Given the description of an element on the screen output the (x, y) to click on. 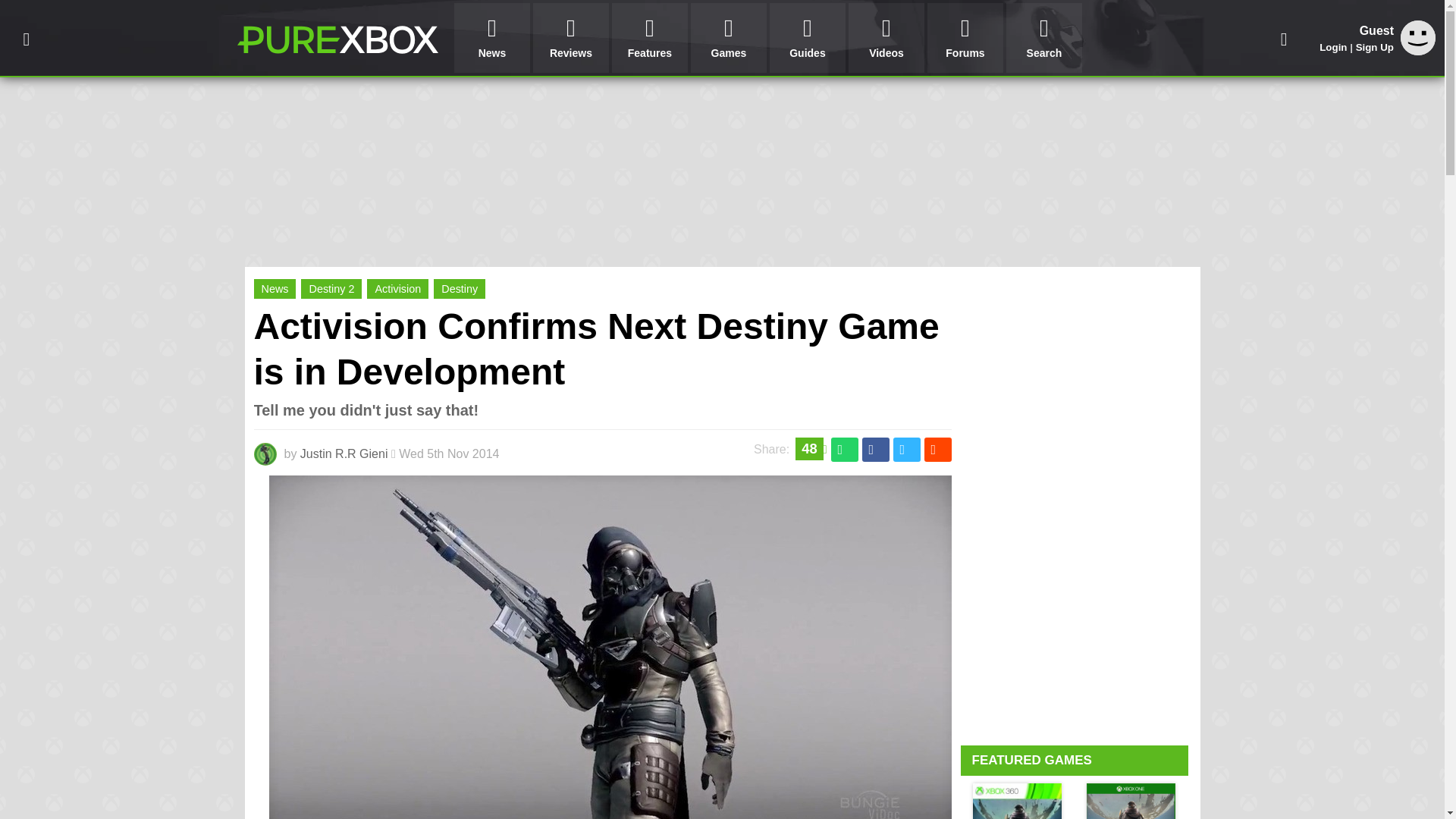
Guest (1417, 51)
Search (1043, 37)
Features (649, 37)
Pure Xbox (336, 39)
Pure Xbox (336, 39)
Share This Page (1283, 37)
Guides (807, 37)
Login (1332, 47)
Sign Up (1374, 47)
Guest (1417, 37)
